Given the description of an element on the screen output the (x, y) to click on. 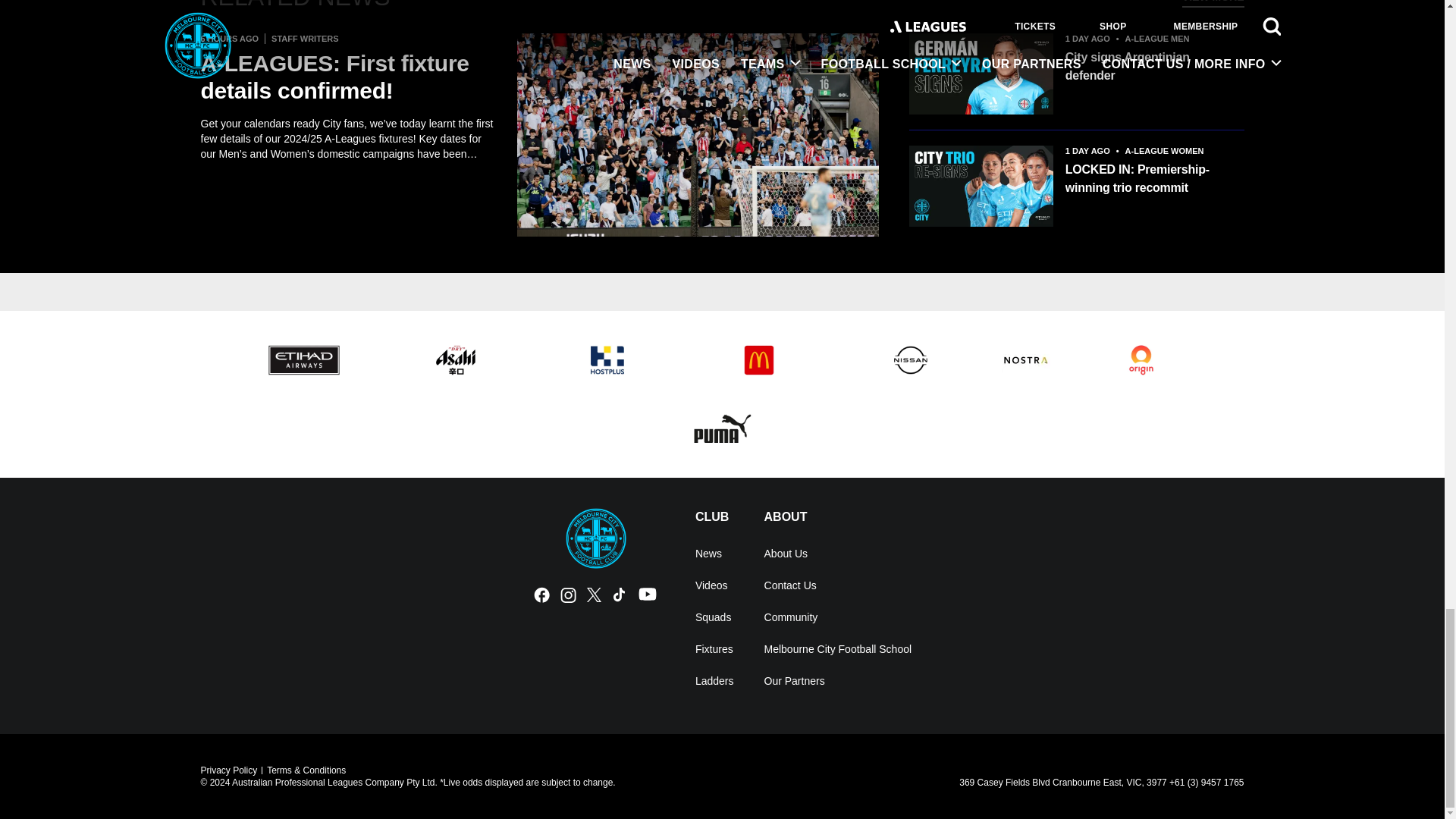
Asahi Super Dry (454, 360)
Origin (1140, 360)
Nostra (1025, 360)
PUMA (722, 428)
Nissan (909, 360)
Etihad Airways (303, 360)
Hostplus (606, 360)
